Given the description of an element on the screen output the (x, y) to click on. 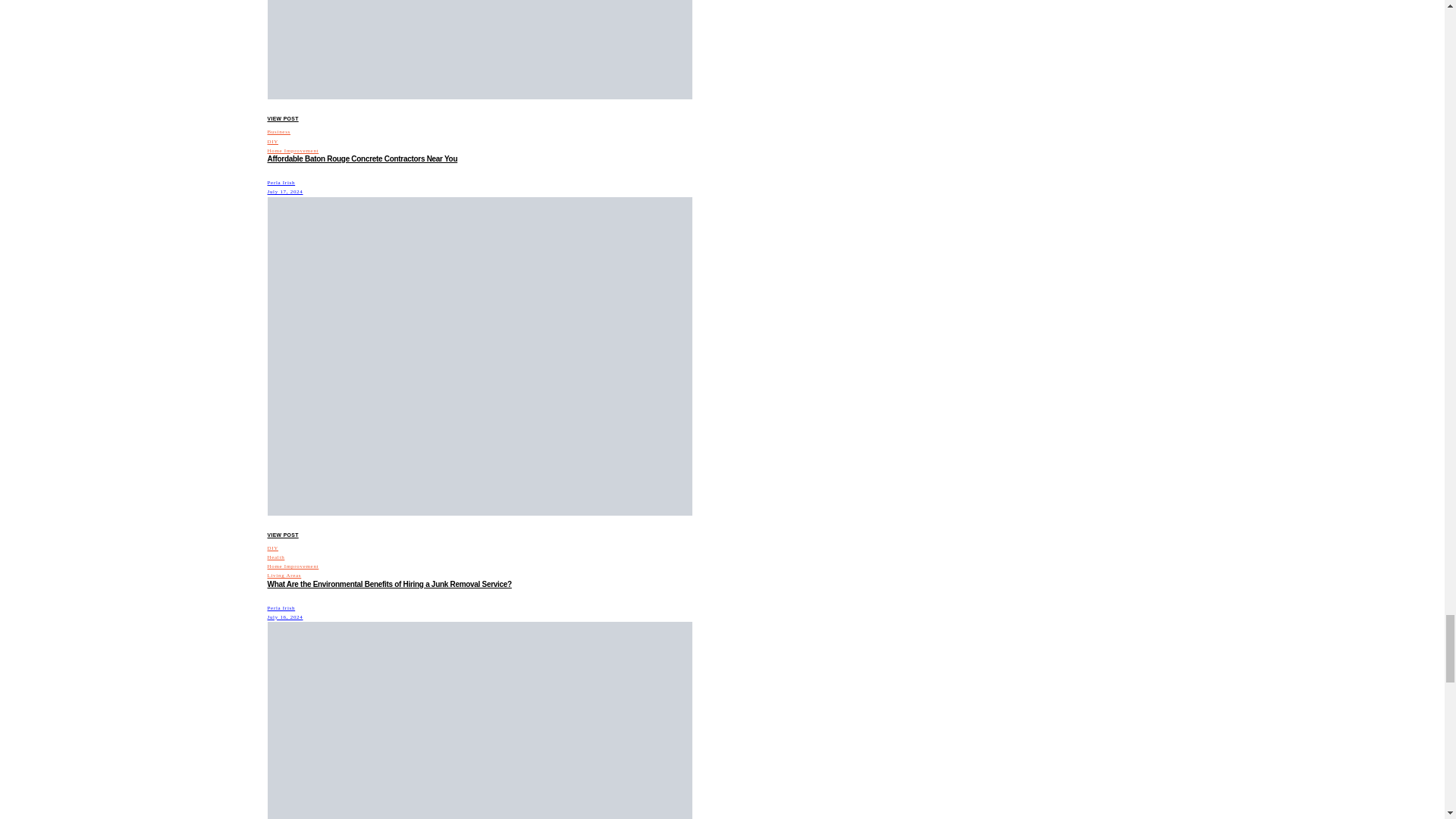
View all posts by Perla Irish (280, 182)
View all posts by Perla Irish (280, 607)
